Given the description of an element on the screen output the (x, y) to click on. 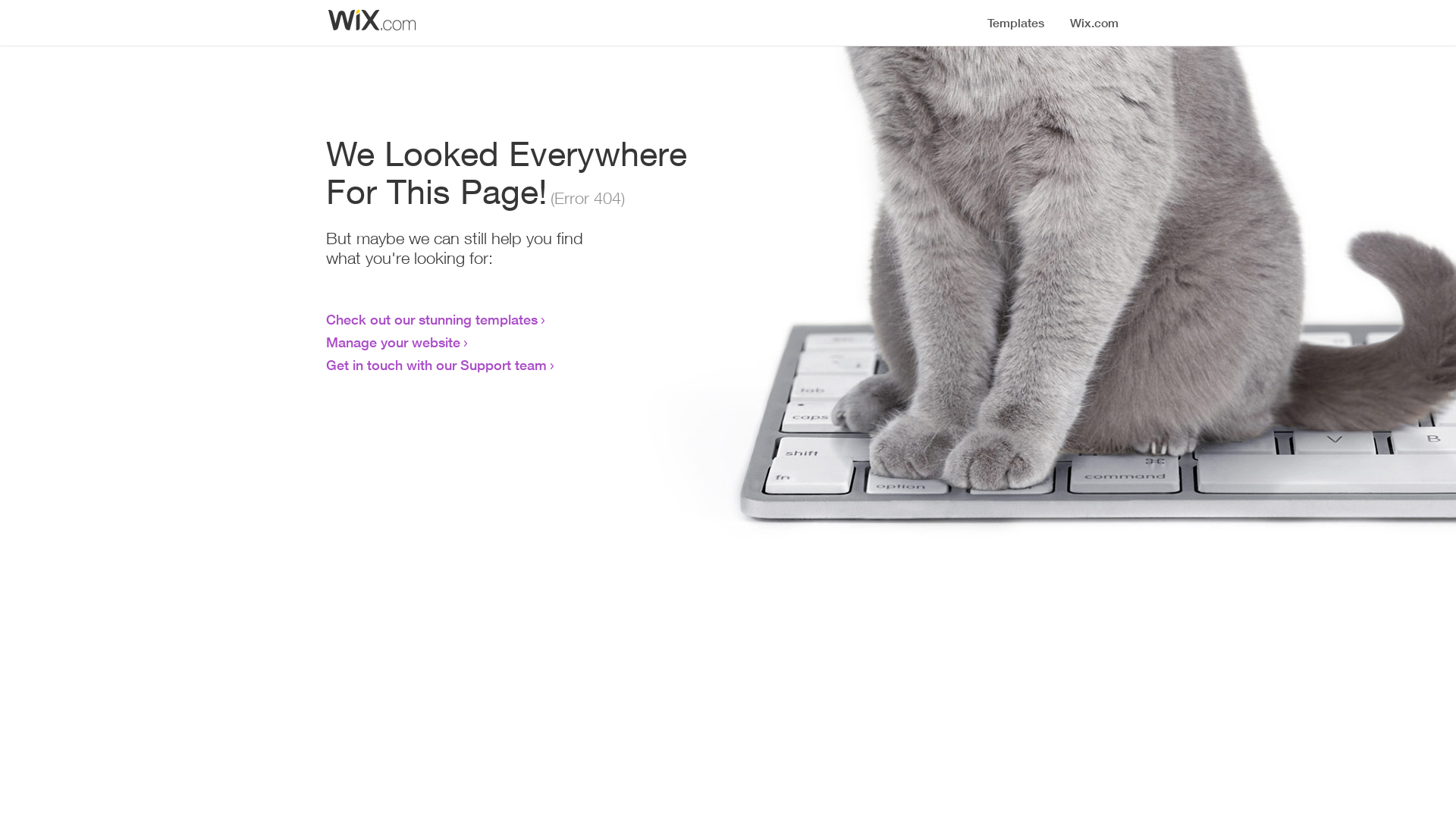
Check out our stunning templates Element type: text (431, 318)
Manage your website Element type: text (393, 341)
Get in touch with our Support team Element type: text (436, 364)
